Given the description of an element on the screen output the (x, y) to click on. 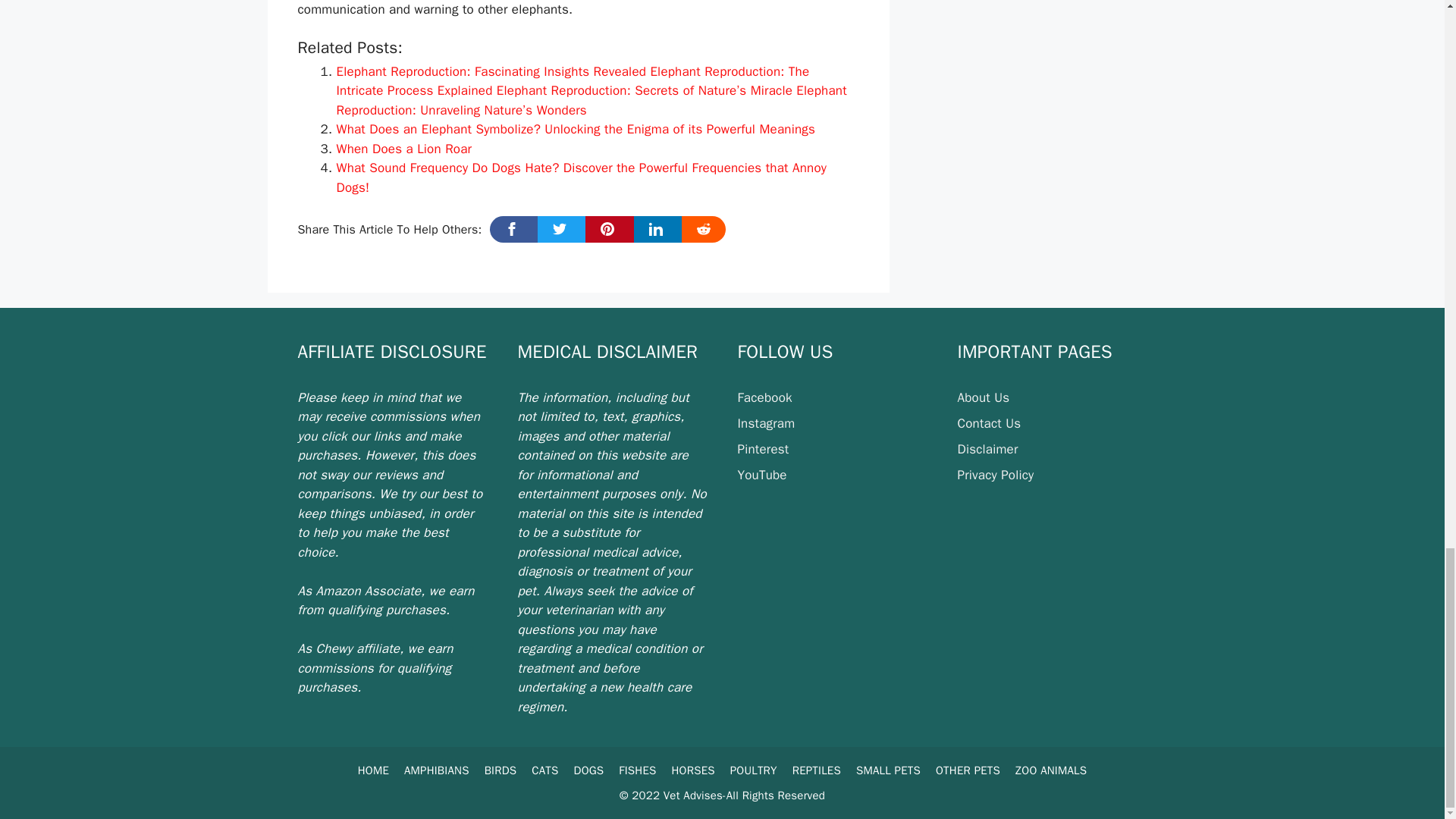
When Does a Lion Roar (403, 148)
When Does a Lion Roar (403, 148)
